Given the description of an element on the screen output the (x, y) to click on. 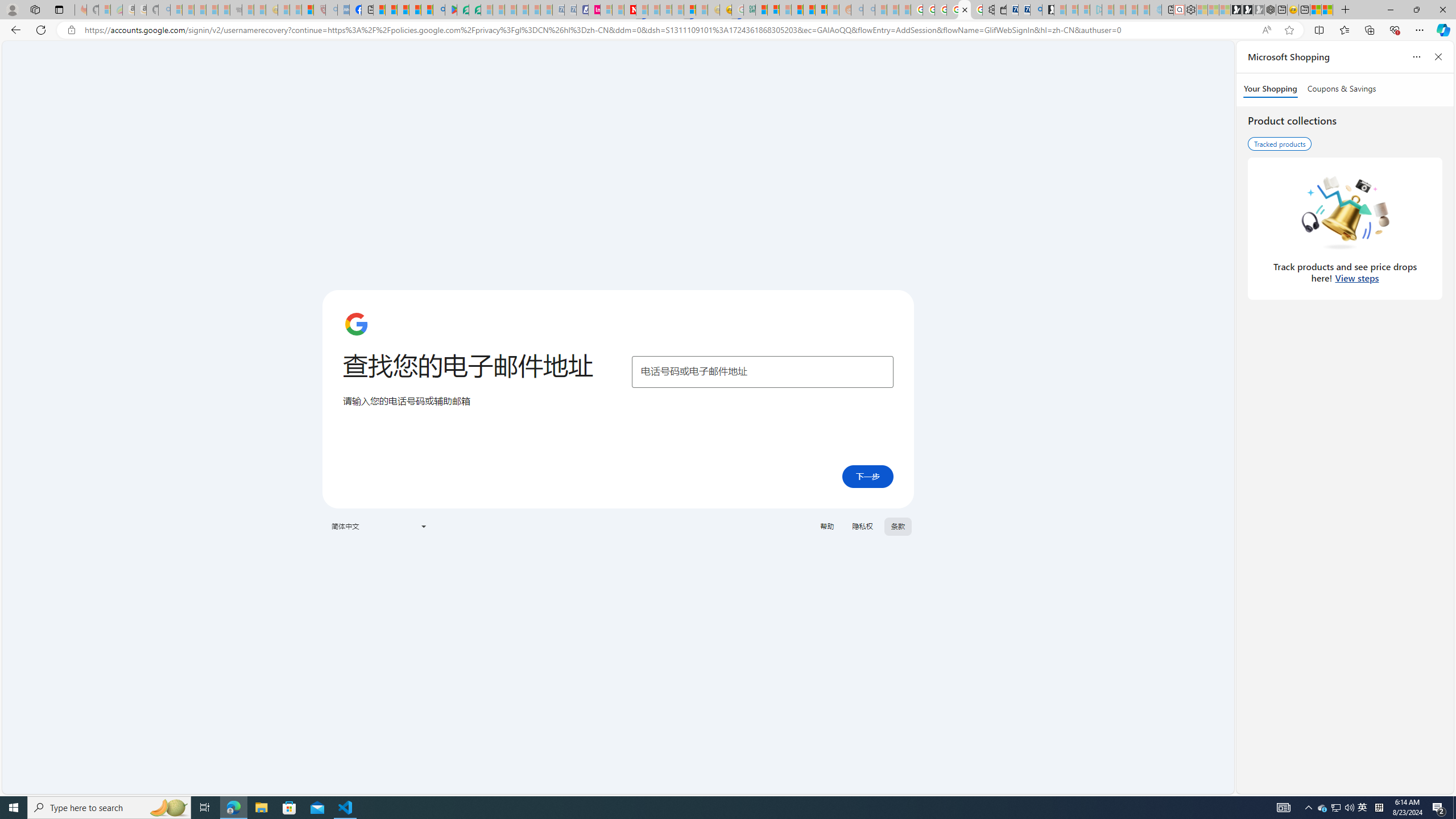
Local - MSN (307, 9)
Combat Siege (236, 9)
Microsoft-Report a Concern to Bing - Sleeping (104, 9)
Jobs - lastminute.com Investor Portal (594, 9)
